Given the description of an element on the screen output the (x, y) to click on. 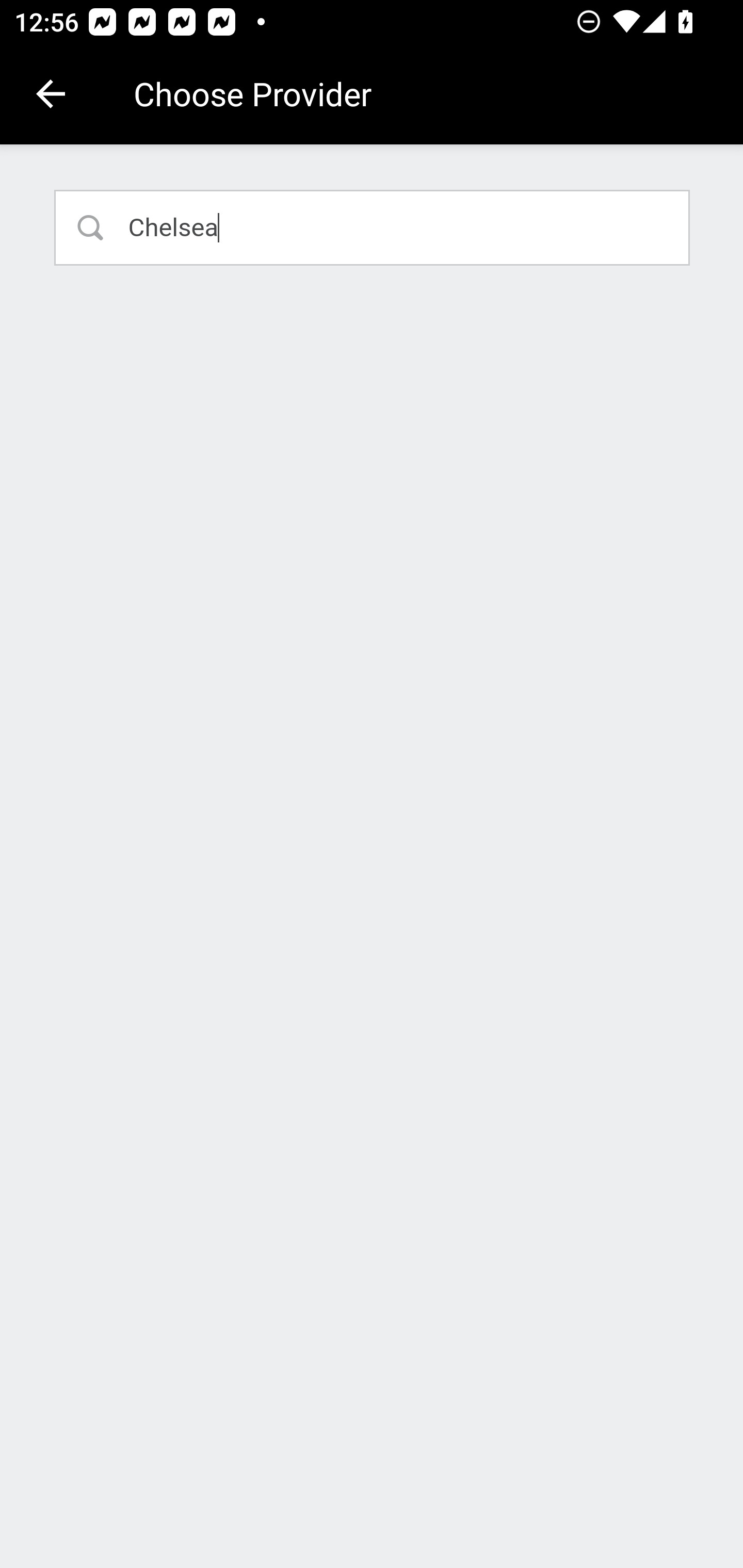
Navigate up (50, 93)
Chelsea (372, 227)
